Given the description of an element on the screen output the (x, y) to click on. 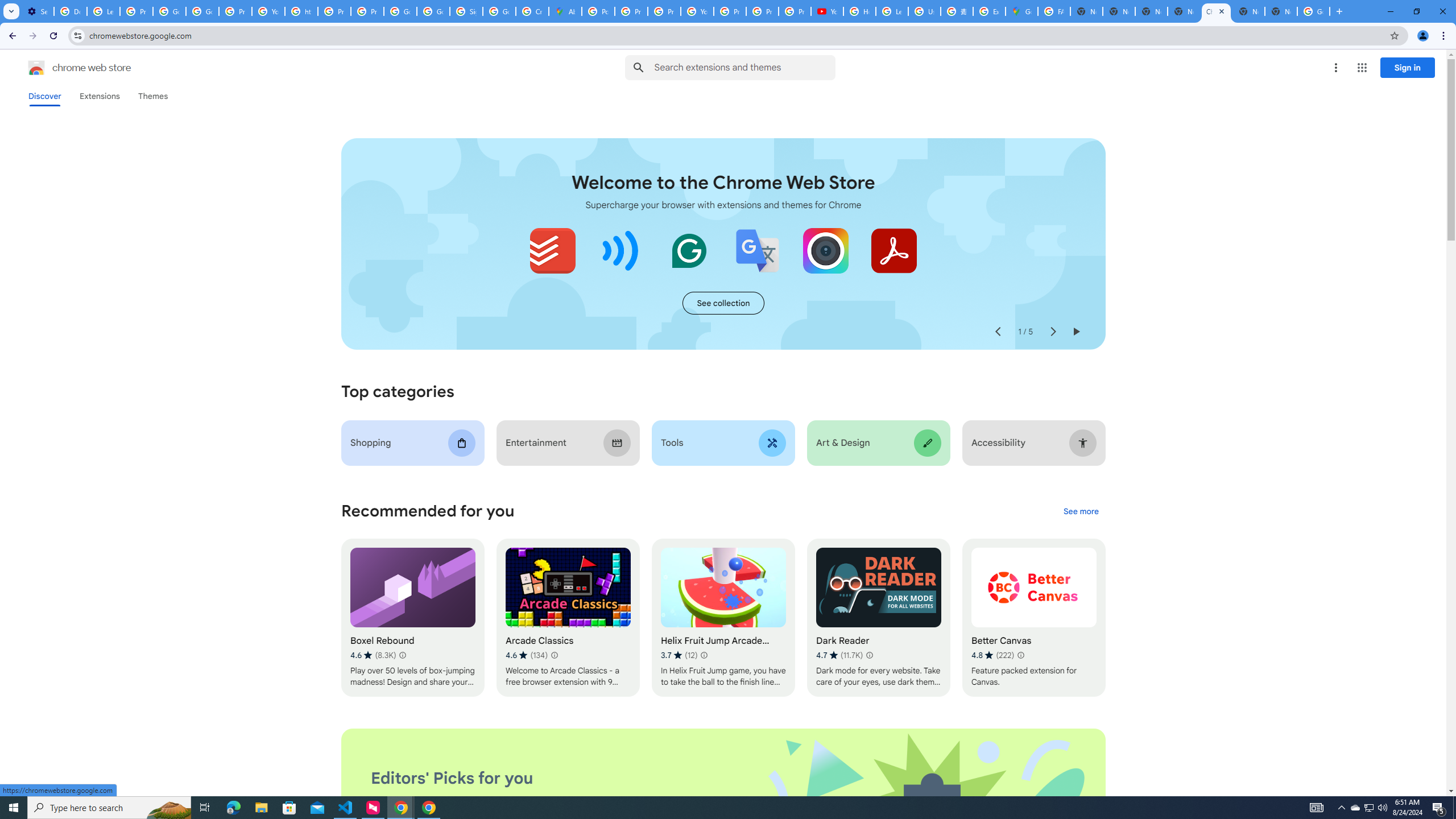
Learn more about results and reviews "Better Canvas" (1019, 655)
Arcade Classics (567, 617)
Grammarly: AI Writing and Grammar Checker App (689, 250)
Entertainment (567, 443)
Learn more about results and reviews "Arcade Classics" (553, 655)
Average rating 4.7 out of 5 stars. 11.7K ratings. (839, 655)
New Tab (1281, 11)
Average rating 3.7 out of 5 stars. 12 ratings. (679, 655)
Discover (43, 95)
